Given the description of an element on the screen output the (x, y) to click on. 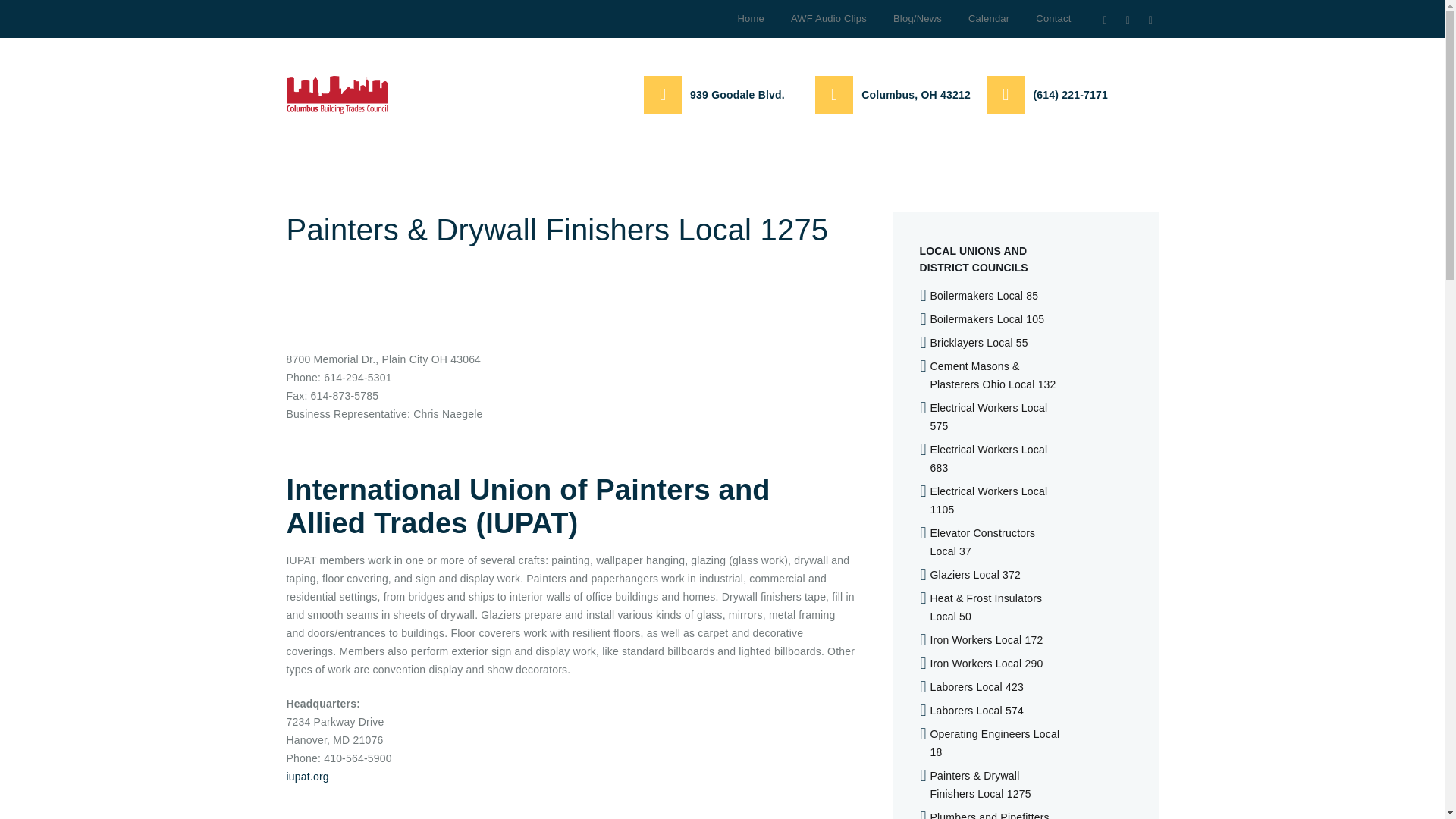
AWF Audio Clips (828, 18)
Contact (1052, 18)
Calendar (988, 18)
